Given the description of an element on the screen output the (x, y) to click on. 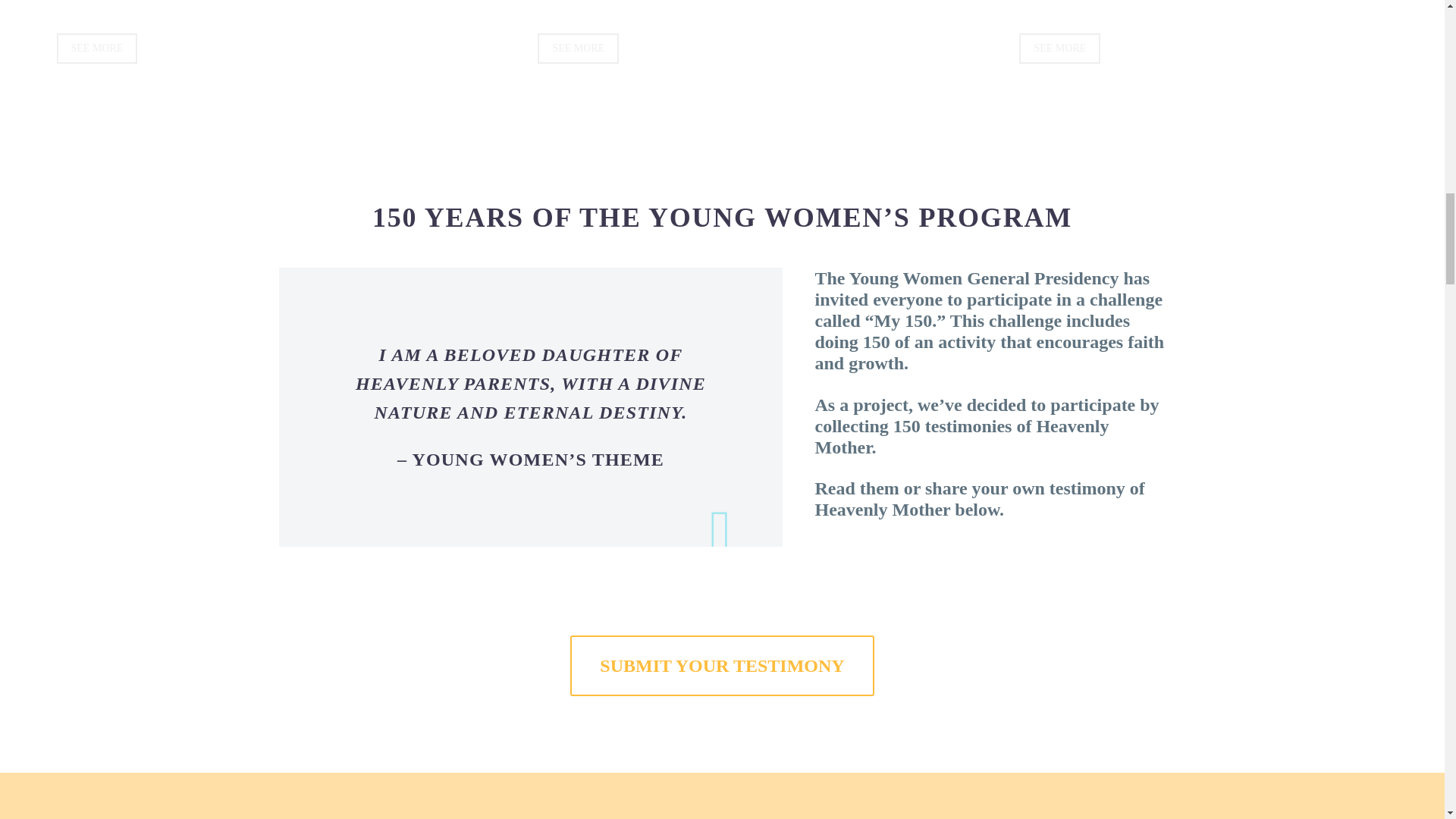
Resources (577, 48)
Resources (96, 48)
Resources (1059, 48)
Submit your Testimony (721, 665)
